Given the description of an element on the screen output the (x, y) to click on. 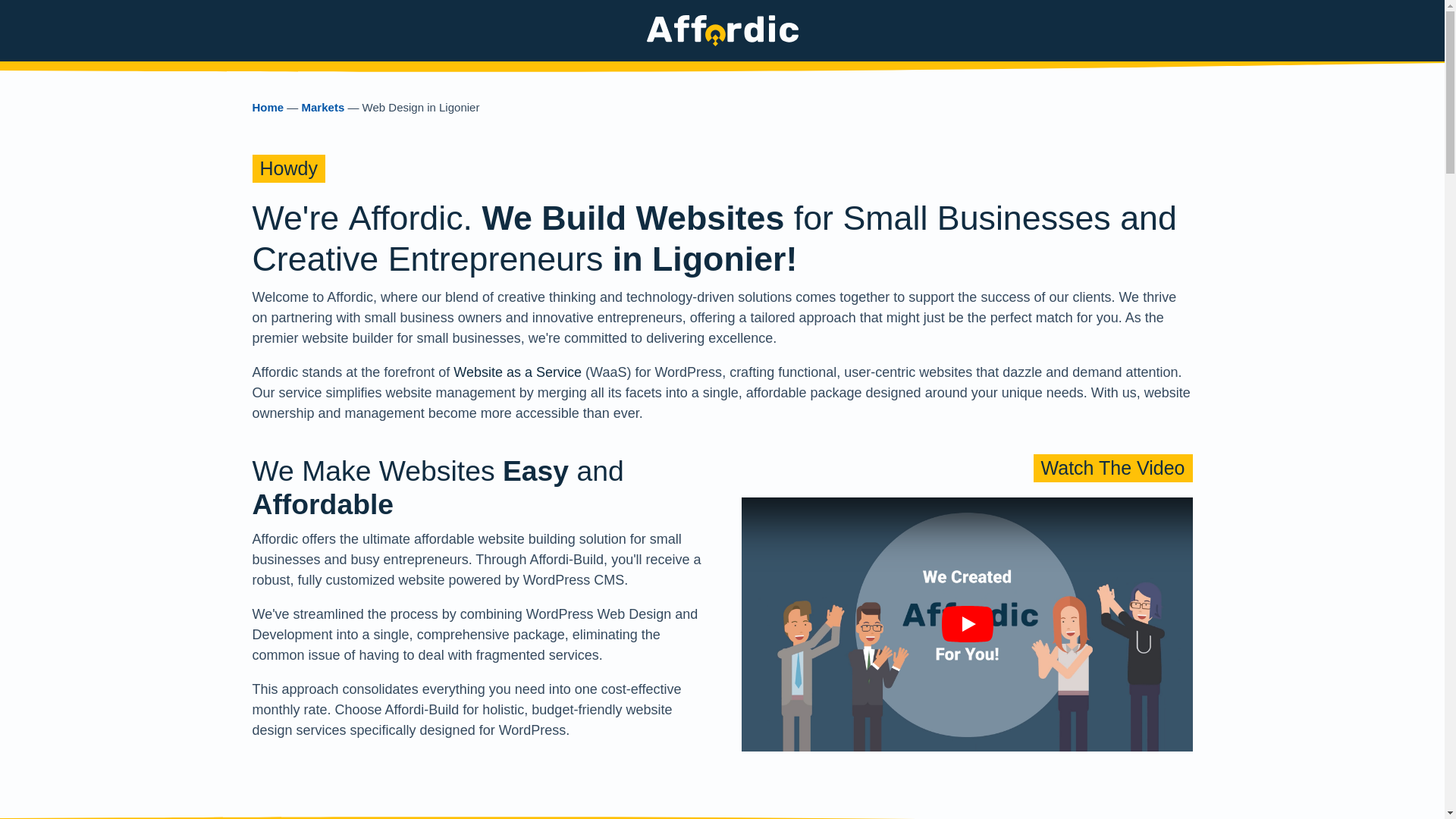
Play (966, 624)
Website as a Service (516, 372)
Markets (323, 106)
Home (267, 106)
